Given the description of an element on the screen output the (x, y) to click on. 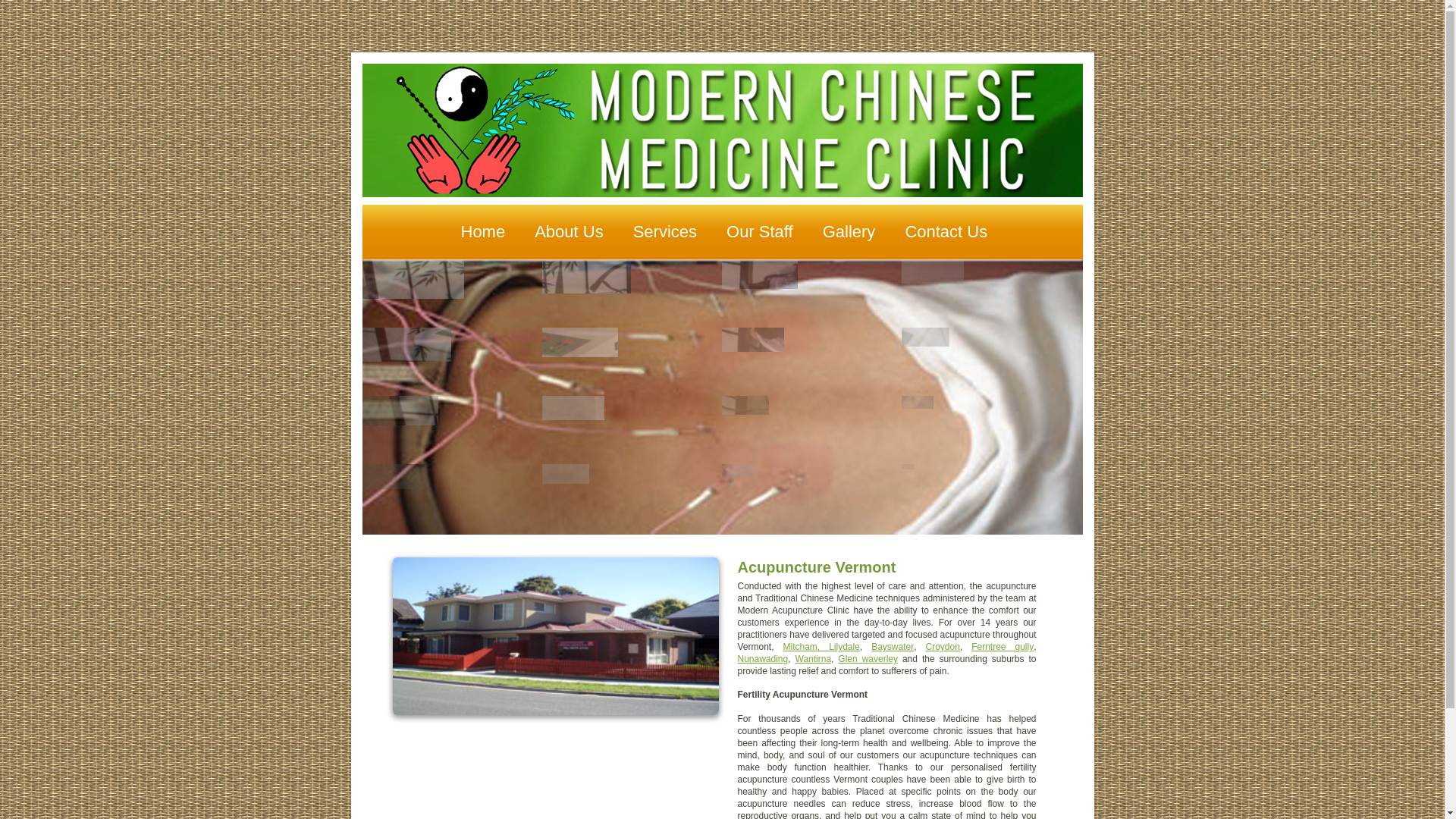
Services Element type: text (664, 231)
,  Element type: text (822, 646)
Wantirna Element type: text (812, 658)
Home Element type: text (483, 231)
Croydon Element type: text (942, 646)
logo Element type: text (722, 130)
About Us Element type: text (568, 231)
Our Staff Element type: text (759, 231)
Contact Us Element type: text (945, 231)
Nunawading Element type: text (762, 658)
Bayswater Element type: text (892, 646)
Ferntree gully Element type: text (1002, 646)
Mitcham Element type: text (799, 646)
Lilydale Element type: text (843, 646)
Gallery Element type: text (848, 231)
Glen waverley Element type: text (867, 658)
